Given the description of an element on the screen output the (x, y) to click on. 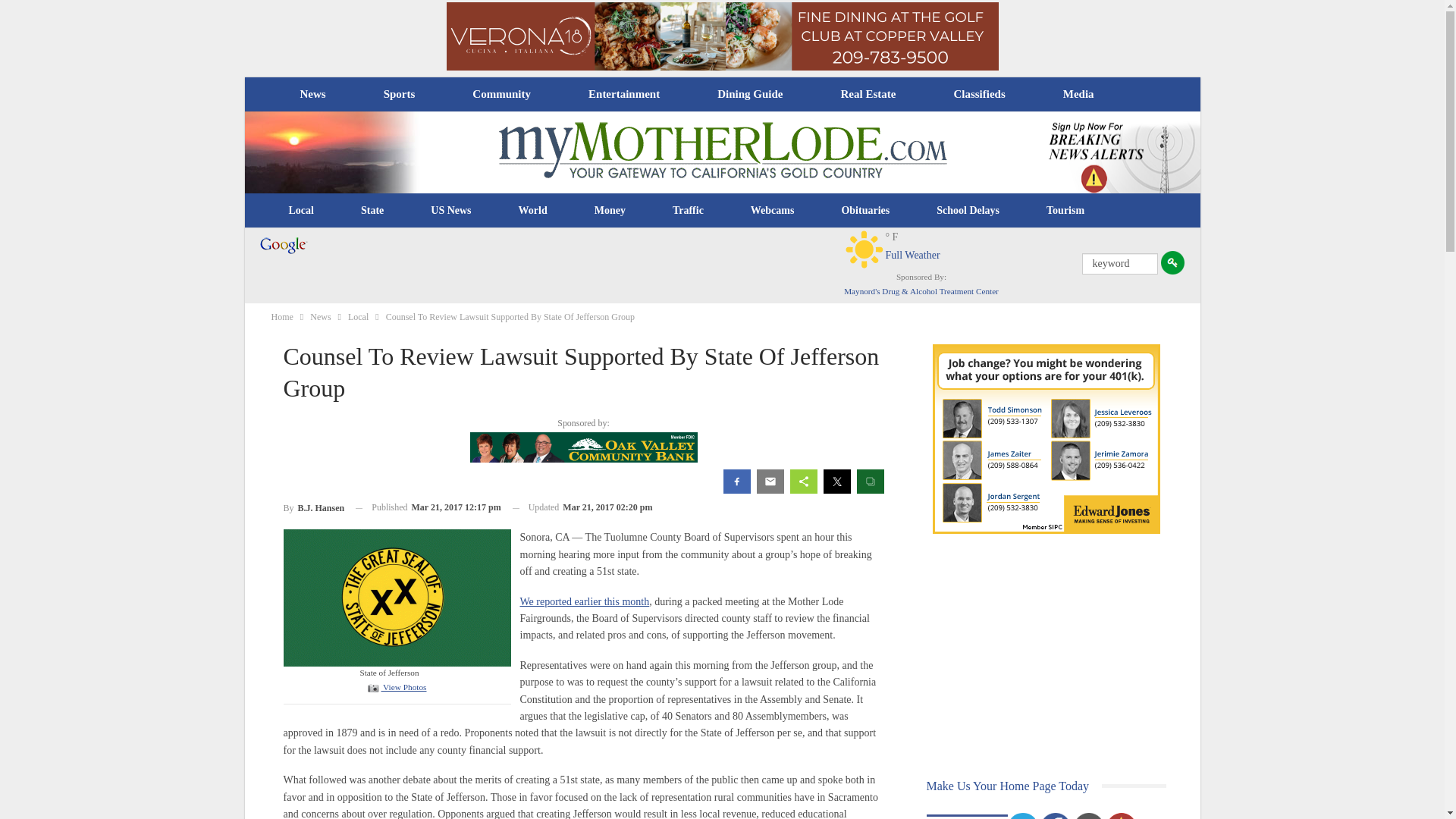
Oak Valley Community Bank (583, 447)
Logo (397, 596)
Classifieds (979, 93)
Community (501, 93)
News (312, 93)
Sports (399, 93)
Money (609, 210)
State (372, 210)
Obituaries (865, 210)
Dining Guide (749, 93)
Local (300, 210)
Submit (1172, 262)
